Given the description of an element on the screen output the (x, y) to click on. 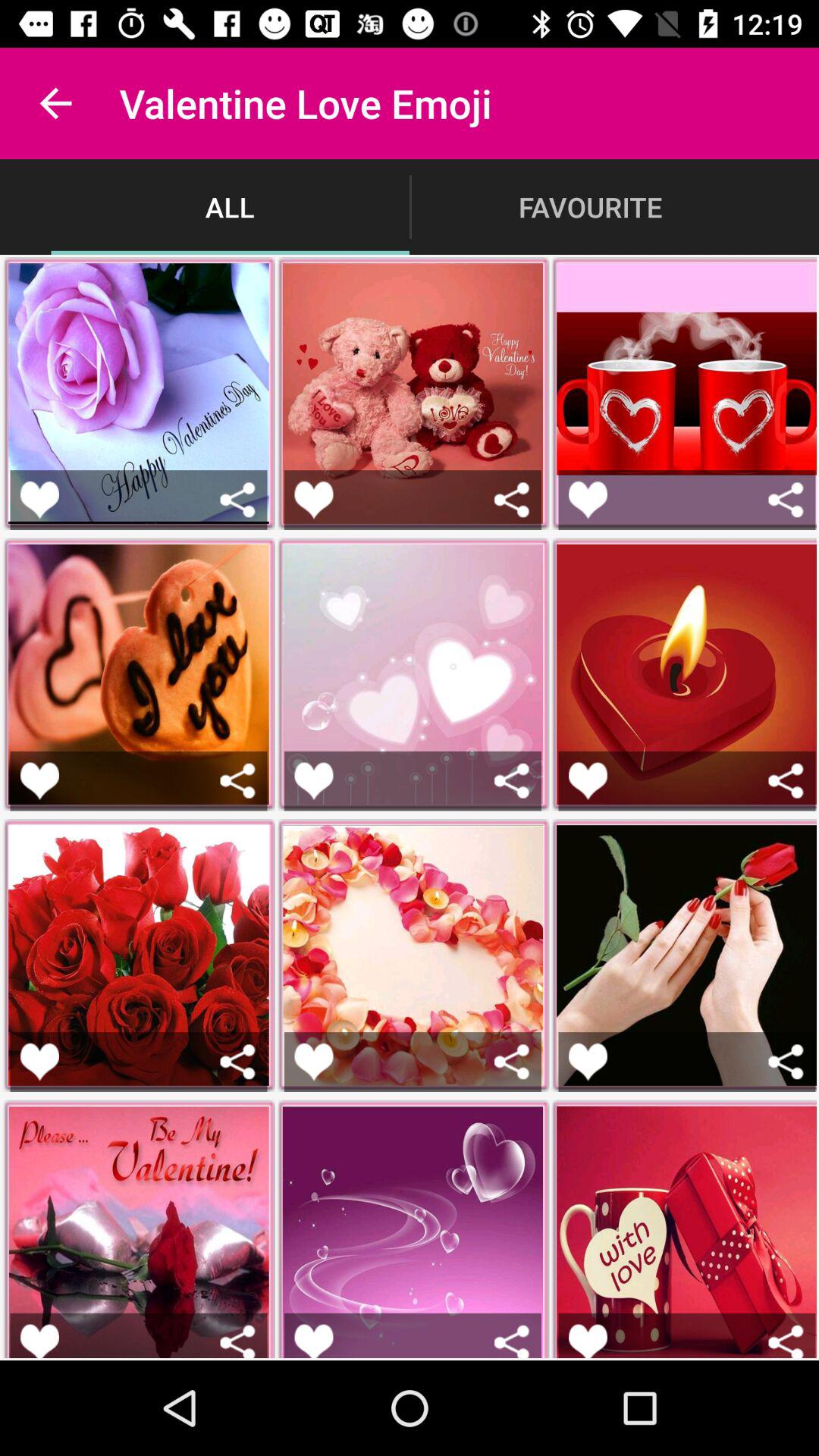
share the emoji (237, 1061)
